Given the description of an element on the screen output the (x, y) to click on. 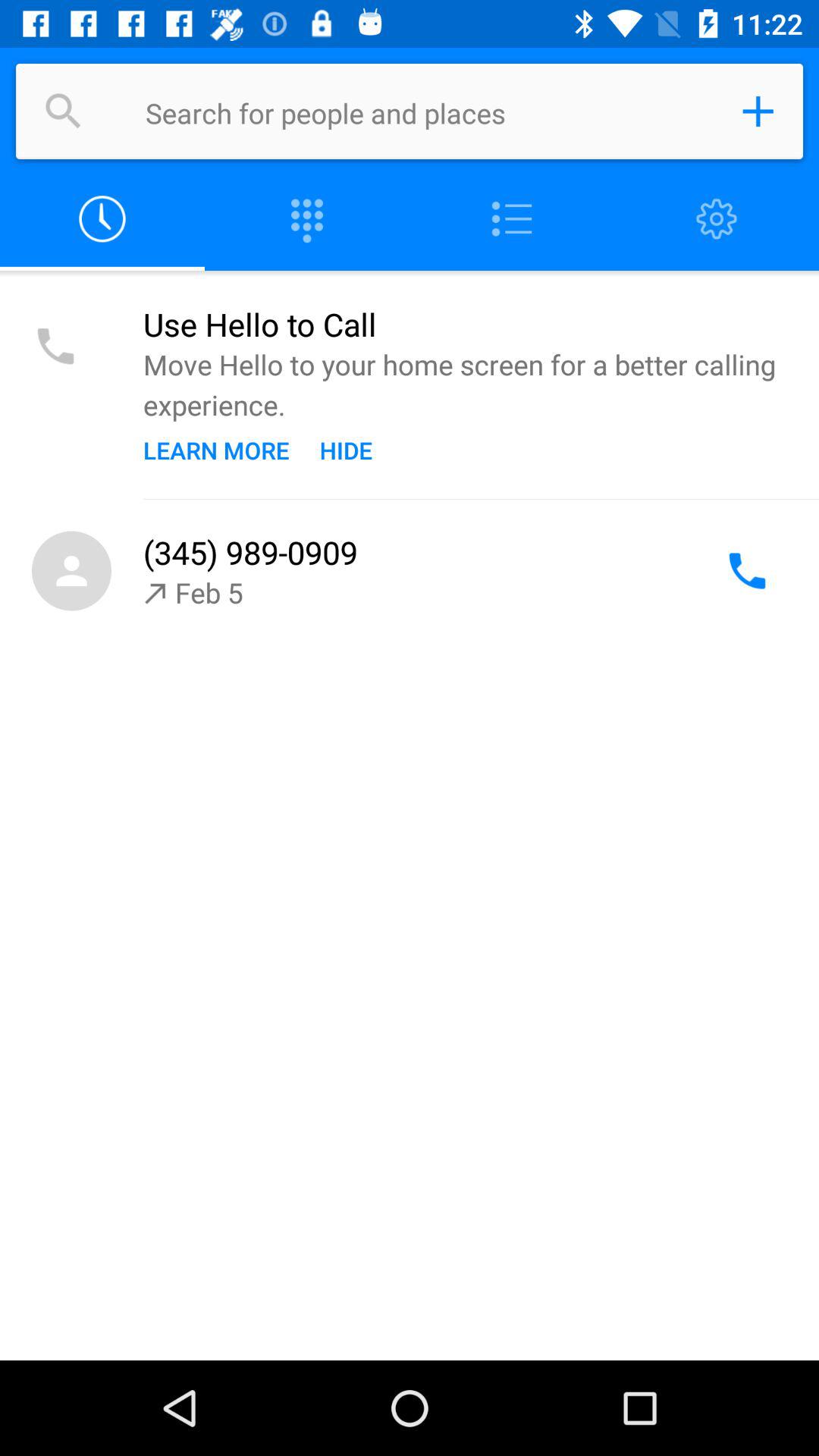
show the current time (102, 219)
